Given the description of an element on the screen output the (x, y) to click on. 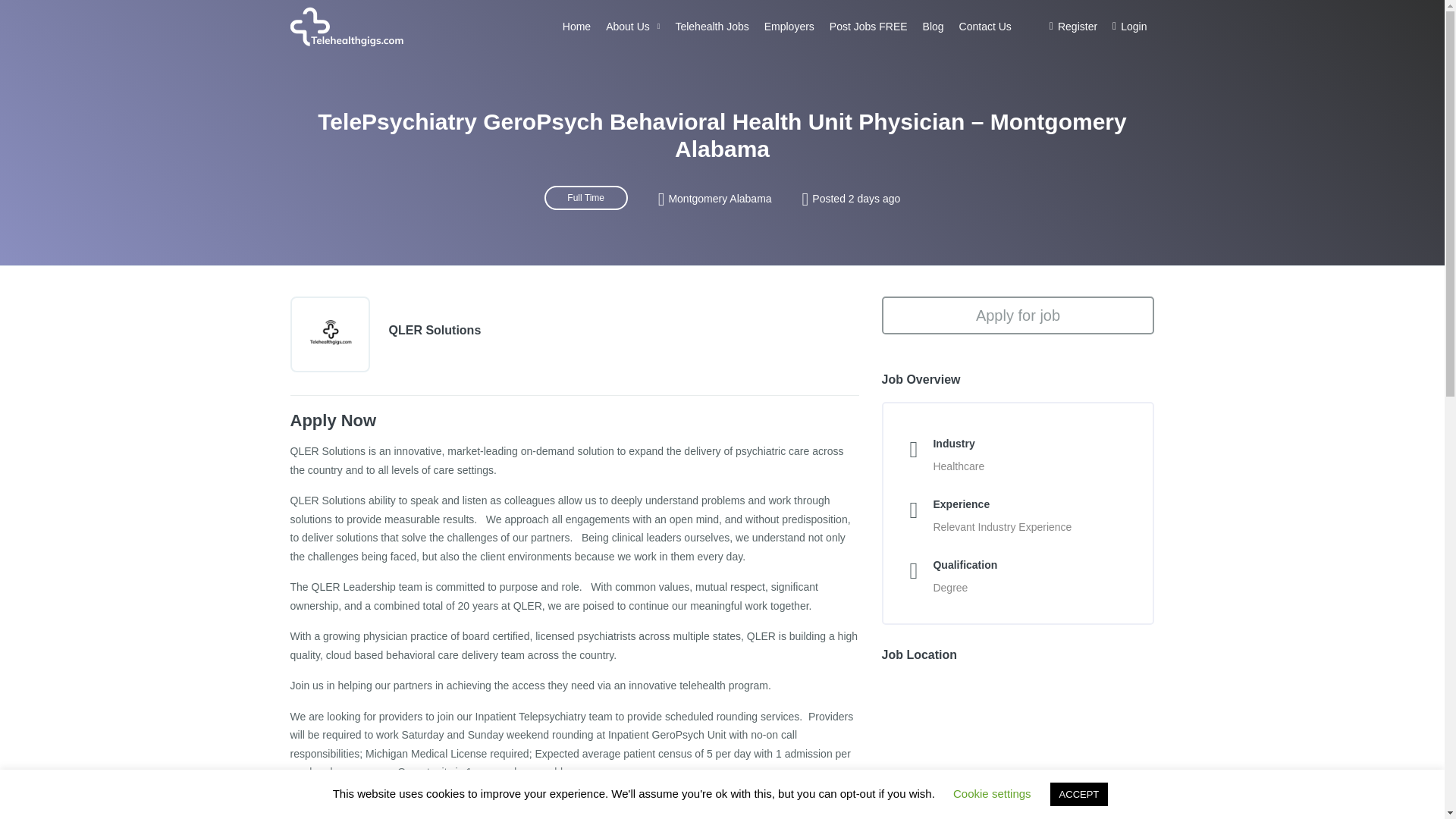
Login (1129, 26)
Home (576, 26)
Apply for job (1017, 315)
Montgomery Alabama (719, 198)
Apply Now (332, 803)
Apply Now (332, 420)
Healthcare (958, 466)
Relevant Industry Experience (1002, 526)
Blog (933, 26)
About Us (632, 26)
Employers (789, 26)
Register (1073, 26)
Post Jobs FREE (868, 26)
Telehealth Jobs (710, 26)
Contact Us (985, 26)
